Given the description of an element on the screen output the (x, y) to click on. 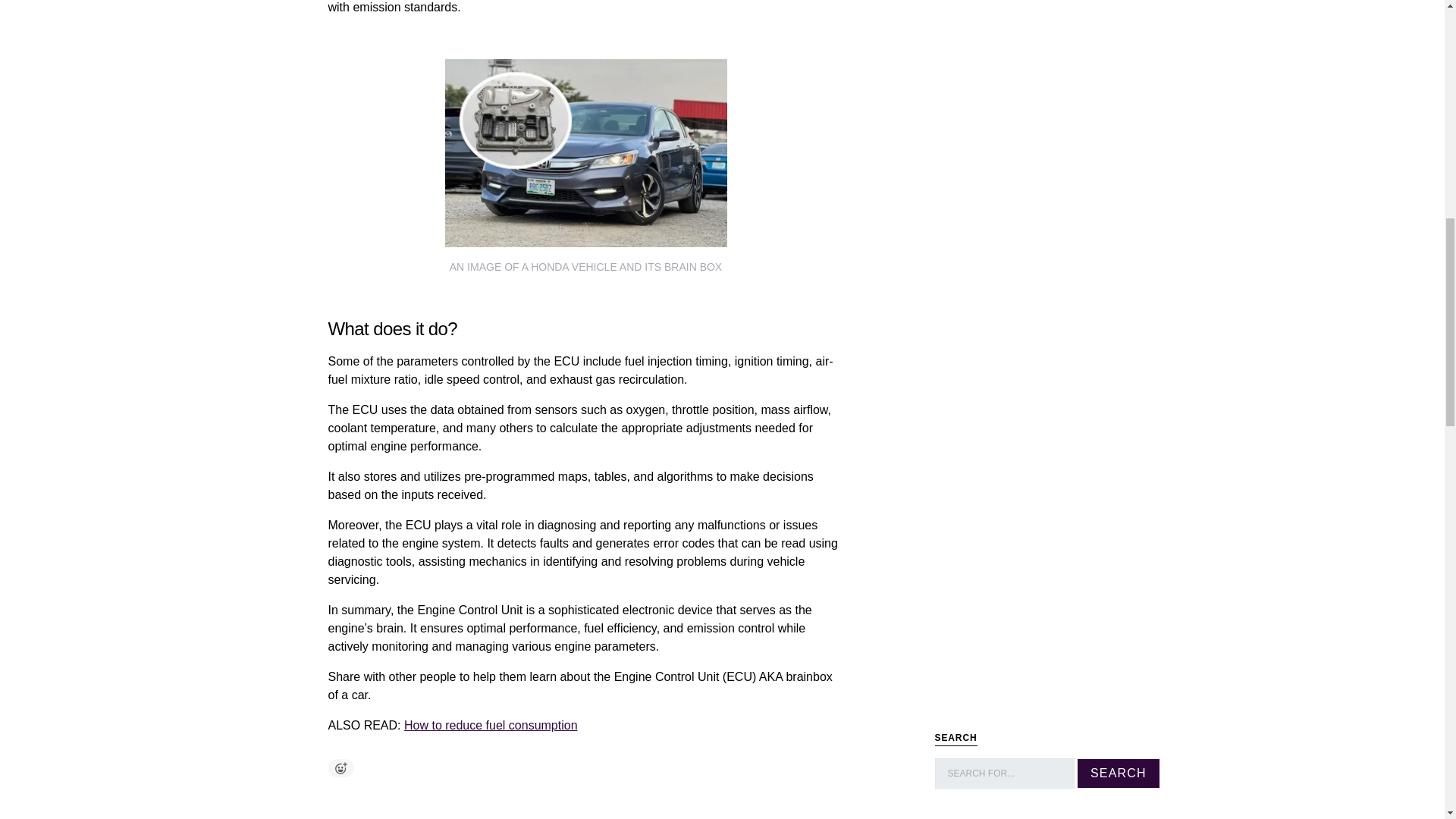
whatsapp (487, 812)
How to reduce fuel consumption (491, 725)
reddit (523, 812)
tumblr (558, 812)
linkedin (452, 812)
twitter (415, 812)
pinterest (381, 812)
facebook (344, 812)
